Given the description of an element on the screen output the (x, y) to click on. 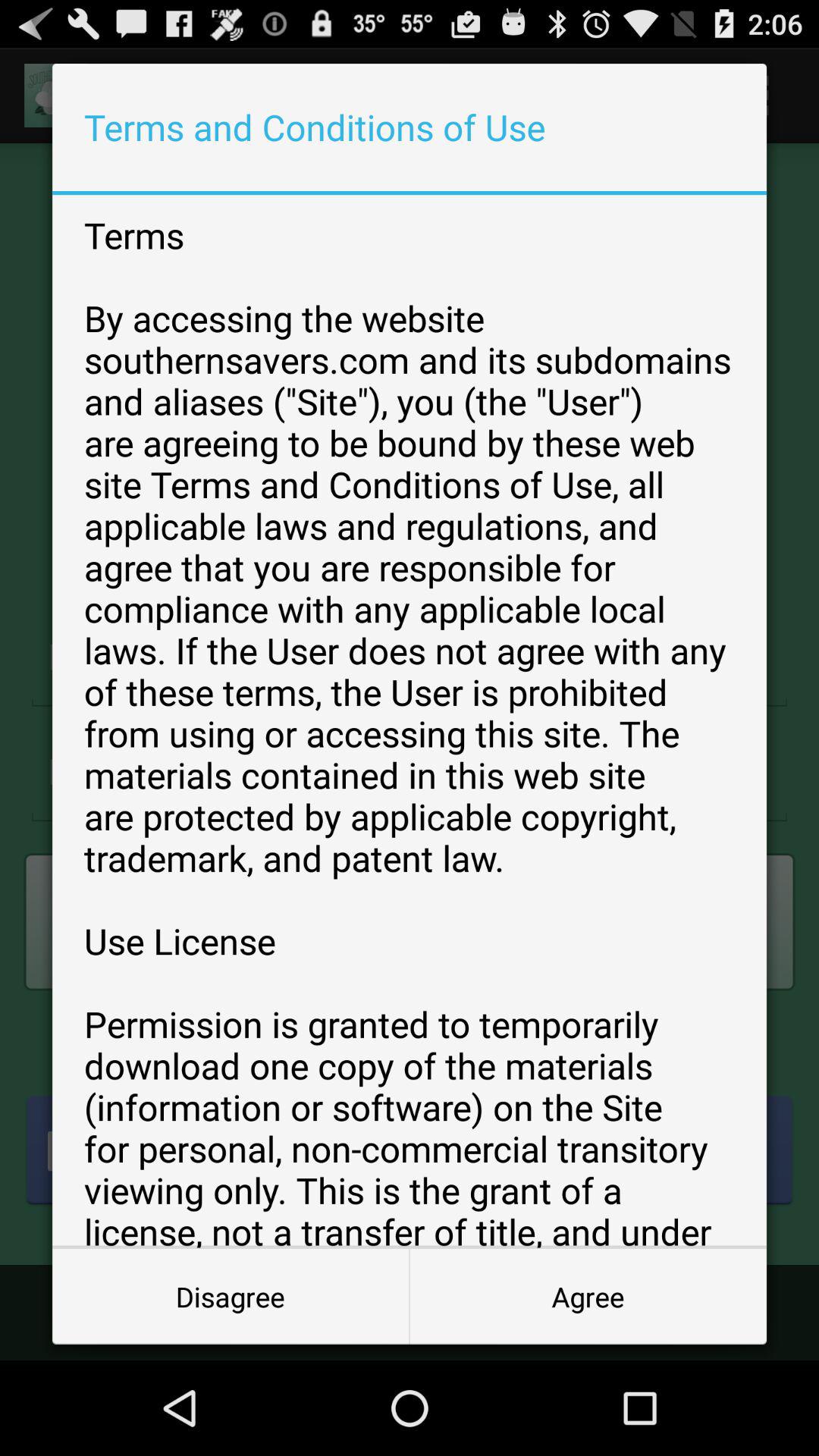
jump until the agree icon (588, 1296)
